Given the description of an element on the screen output the (x, y) to click on. 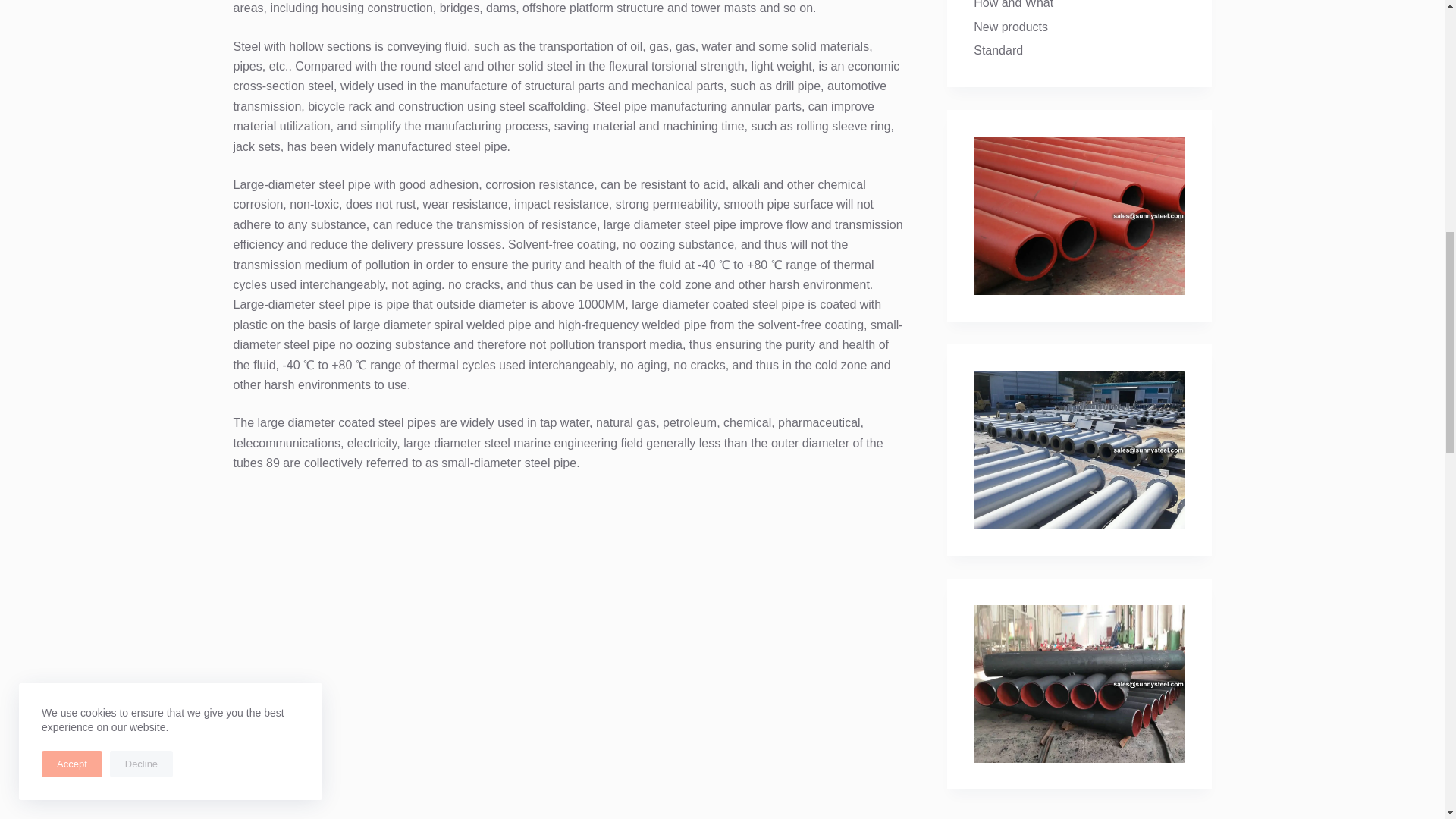
Ceramic lined pipe (1079, 215)
Rare earth alloy wear-resistant pipe (1079, 684)
Cast basalt lined steel pipe (1079, 448)
